Given the description of an element on the screen output the (x, y) to click on. 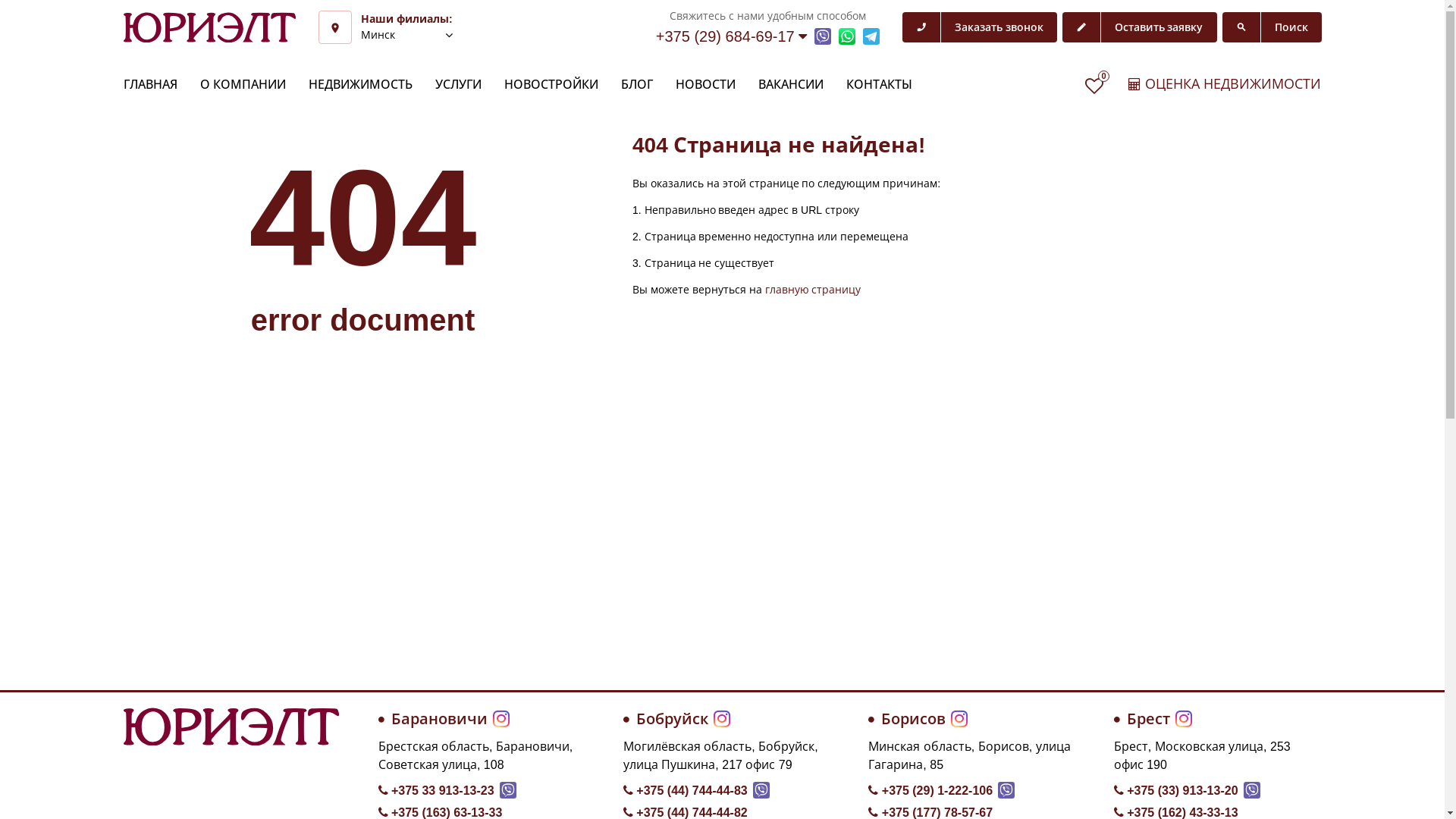
+375 (29) 1-222-106 Element type: text (930, 790)
+375 (44) 744-44-83 Element type: text (685, 790)
0 Element type: text (1094, 85)
+375 (33) 913-13-20 Element type: text (1175, 790)
+375 33 913-13-23 Element type: text (435, 790)
+375 (29) 684-69-17 Element type: text (730, 36)
